Given the description of an element on the screen output the (x, y) to click on. 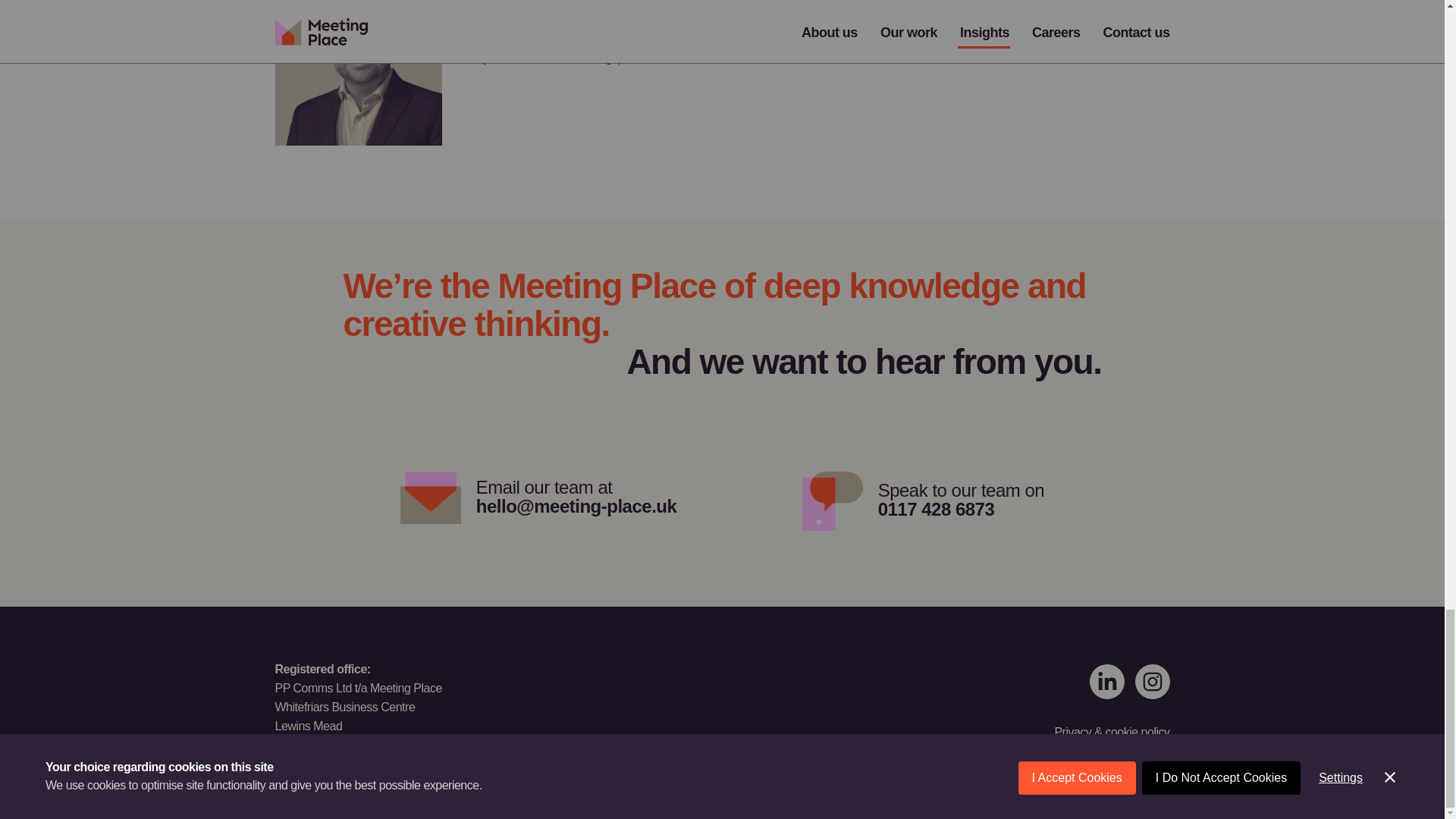
Instagram (1151, 681)
Linked in (566, 15)
Manage cookie settings (1106, 681)
Accessibility policy (1099, 777)
